Given the description of an element on the screen output the (x, y) to click on. 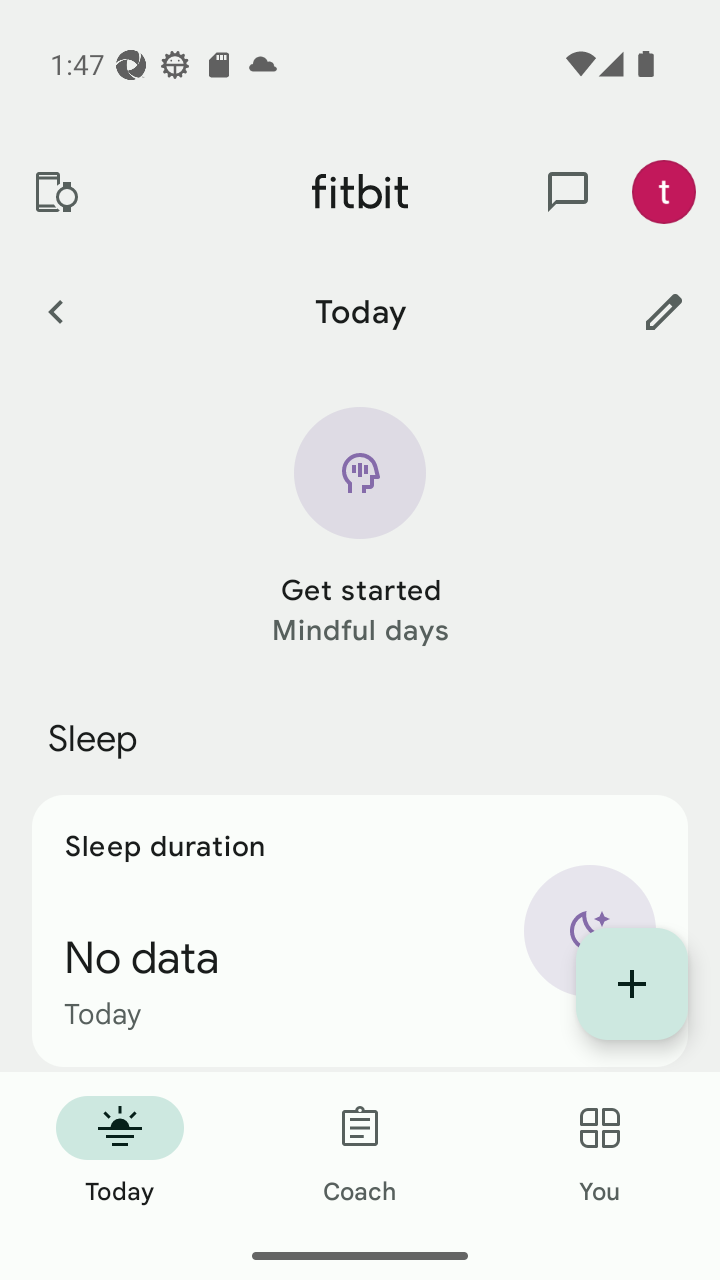
Devices and apps (55, 191)
messages and notifications (567, 191)
Previous Day (55, 311)
Customize (664, 311)
Mindfulness icon Get started Mindful days (360, 529)
Sleep duration No data Today Sleep static arc (359, 930)
Display list of quick log entries (632, 983)
Coach (359, 1151)
You (600, 1151)
